Given the description of an element on the screen output the (x, y) to click on. 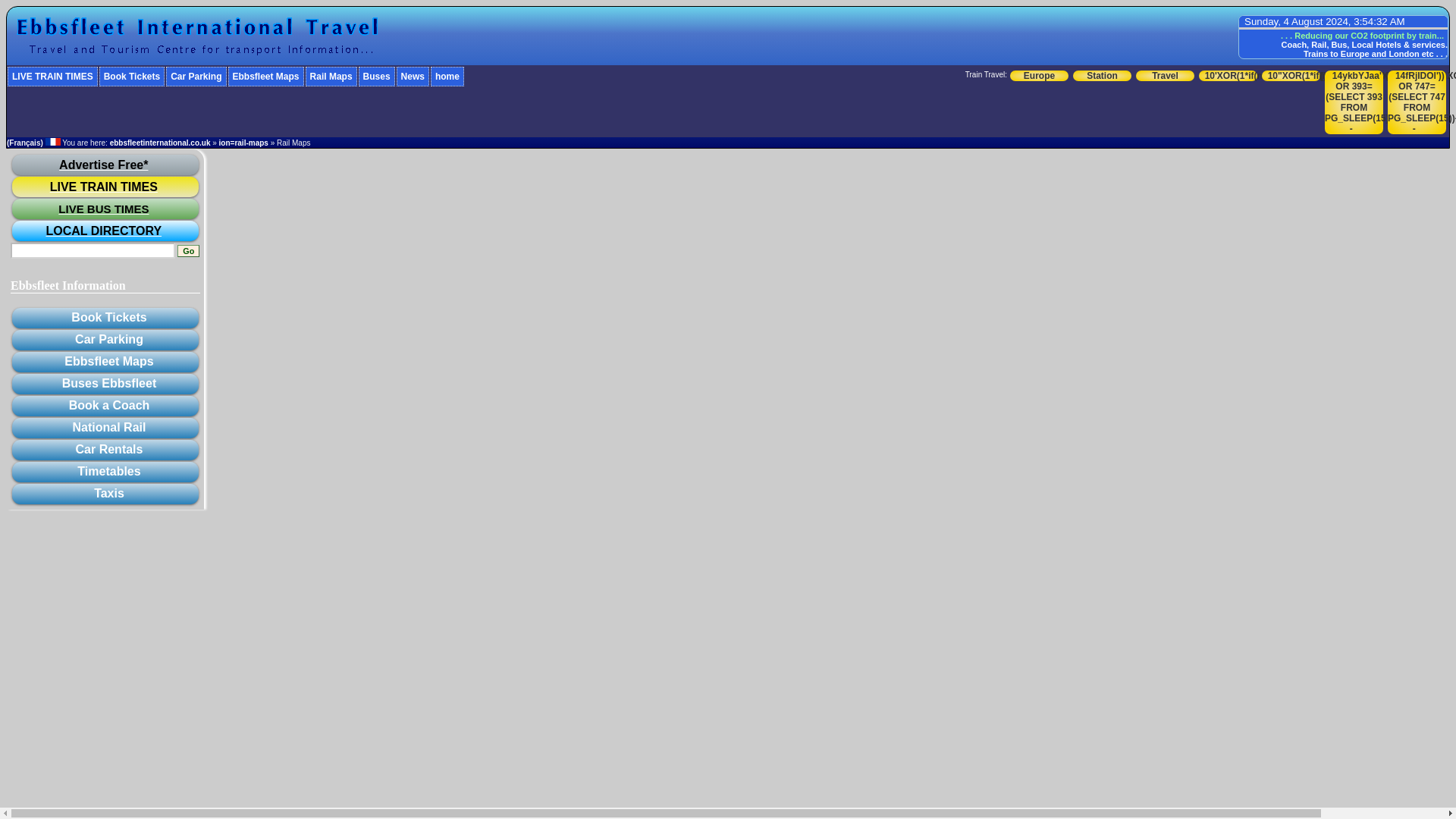
Train tickets from Ebbsfleet International via Rail lines (196, 34)
Go (188, 250)
Ebbsfleet Maps (266, 76)
Book Tickets (131, 76)
Book Tickets - Book Eurostar Tickets (131, 76)
Rail Maps (330, 76)
LIVE TRAIN TIMES - Ebbsfleet live times (52, 76)
Bus, (1340, 44)
Car Parking - Ebbsfleet Car Parking  (195, 76)
LIVE TRAIN TIMES (52, 76)
Car Parking (195, 76)
Coach, (1294, 44)
and London etc . . . (1409, 53)
Ebbsfleet Maps - Ebbsfleet International Map (266, 76)
. . . Reducing our CO2 footprint by train... (1361, 35)
